Given the description of an element on the screen output the (x, y) to click on. 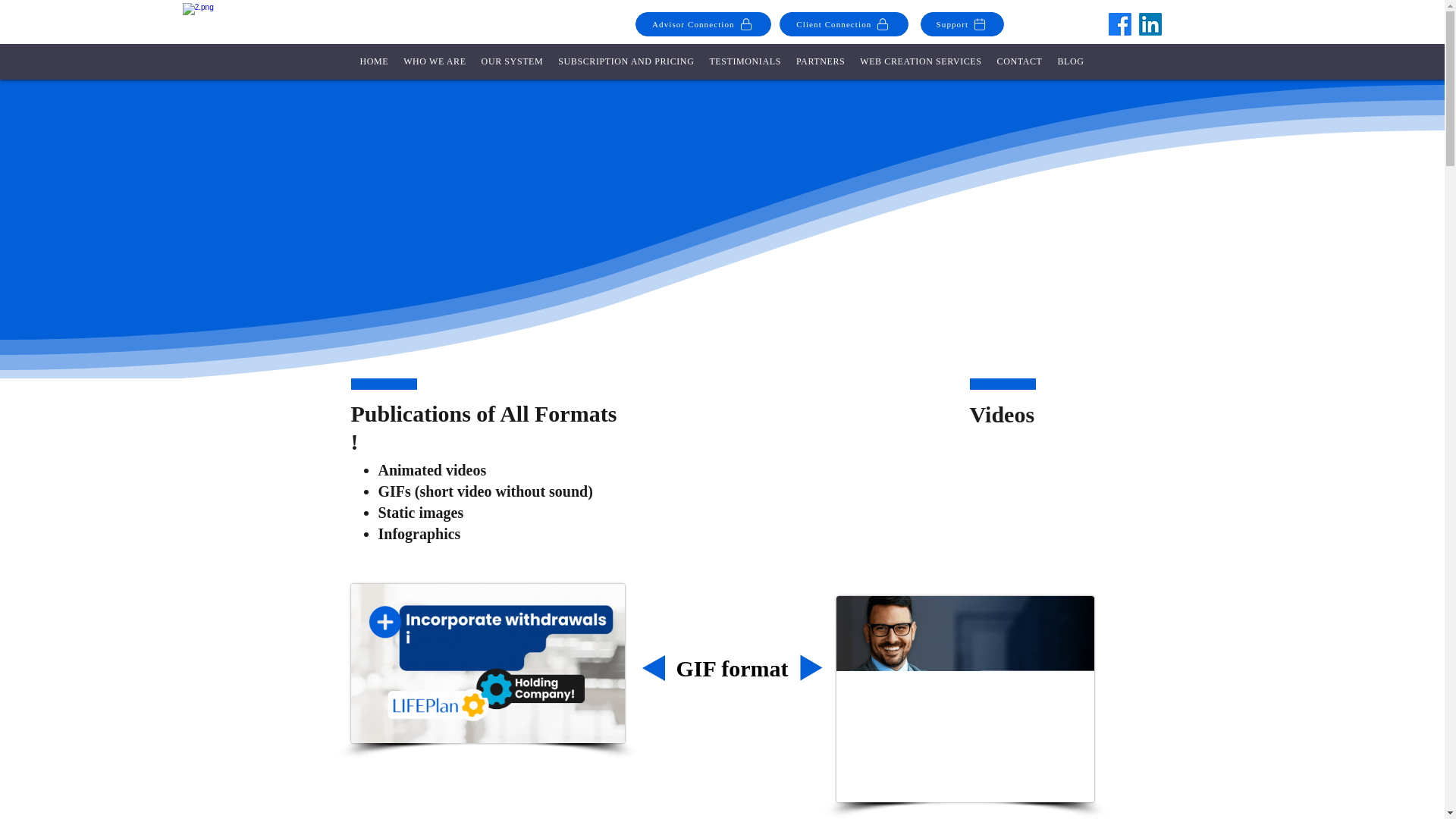
CONTACT (1019, 61)
HOME (374, 61)
BLOG (1069, 61)
SUBSCRIPTION AND PRICING (625, 61)
Advisor Connection (702, 24)
OUR SYSTEM (512, 61)
PARTNERS (820, 61)
WEB CREATION SERVICES (919, 61)
WHO WE ARE (434, 61)
